Given the description of an element on the screen output the (x, y) to click on. 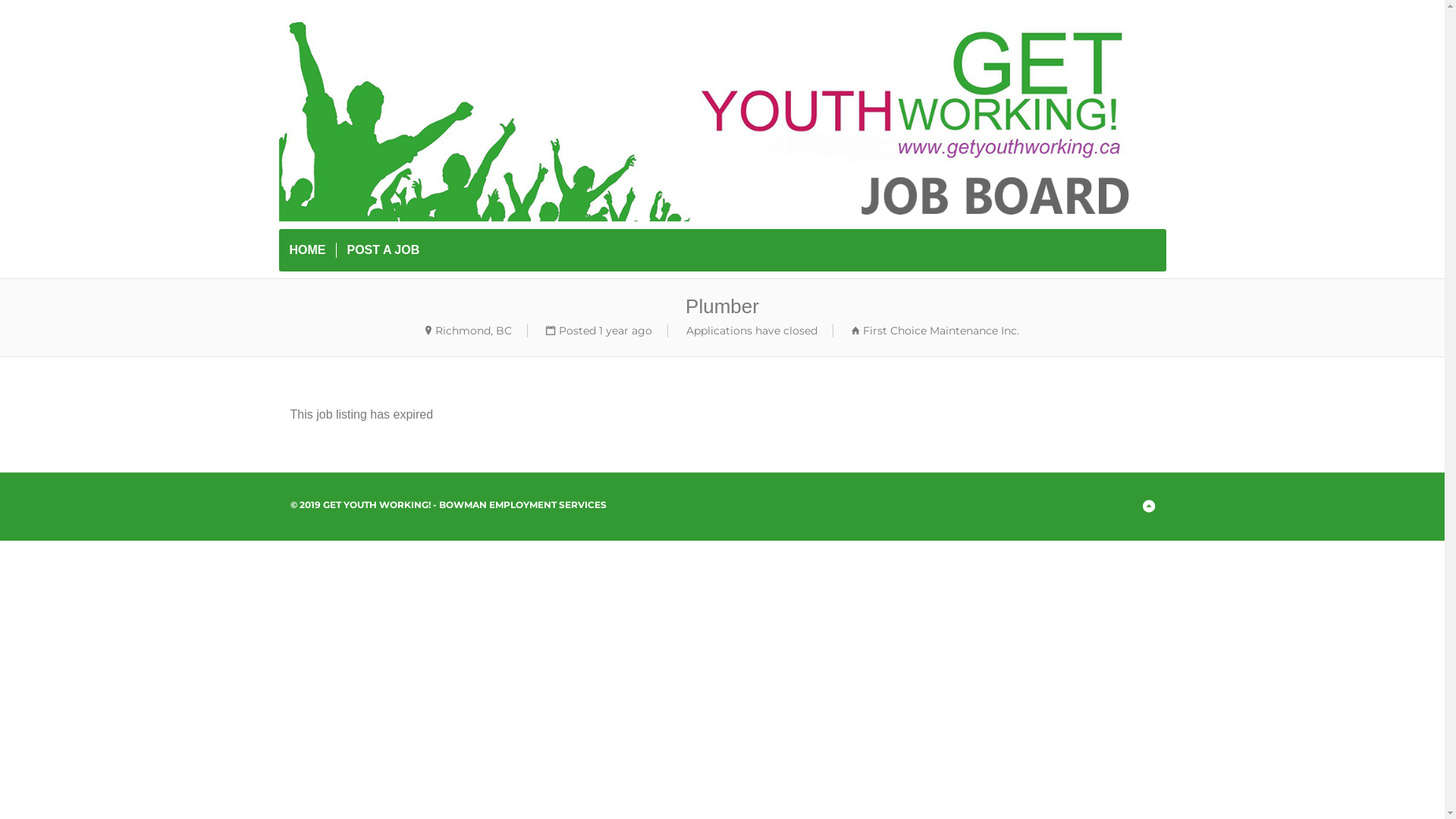
POST A JOB Element type: text (383, 249)
Back to Top Element type: text (1148, 506)
HOME Element type: text (307, 249)
Richmond, BC Element type: text (473, 330)
